Given the description of an element on the screen output the (x, y) to click on. 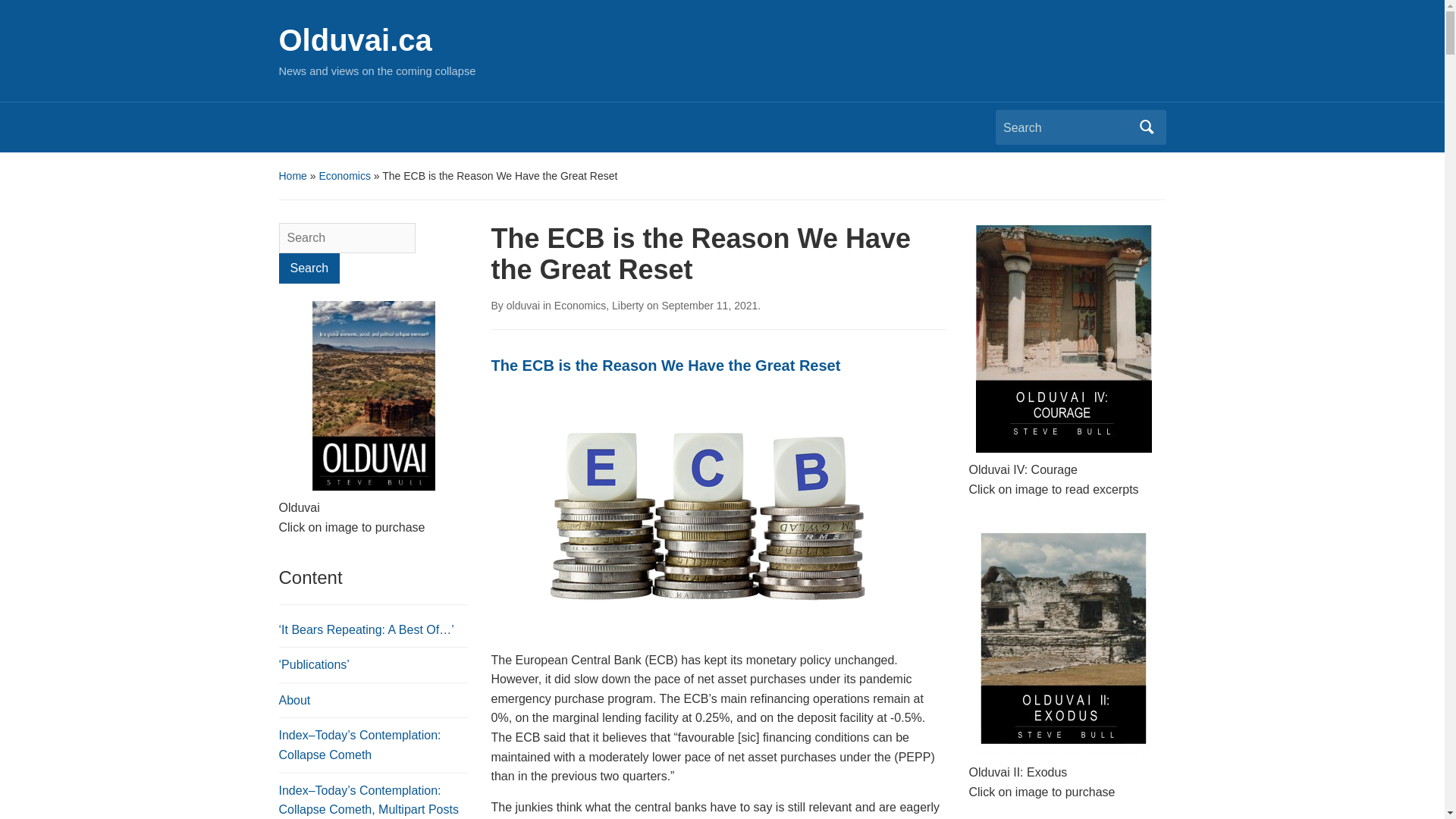
Search (309, 268)
Olduvai.ca - News and views on the coming collapse (355, 39)
6:43 am (709, 305)
Olduvai.ca (355, 39)
About (295, 699)
View all posts by olduvai (523, 305)
Economics (343, 175)
Home (293, 175)
